Given the description of an element on the screen output the (x, y) to click on. 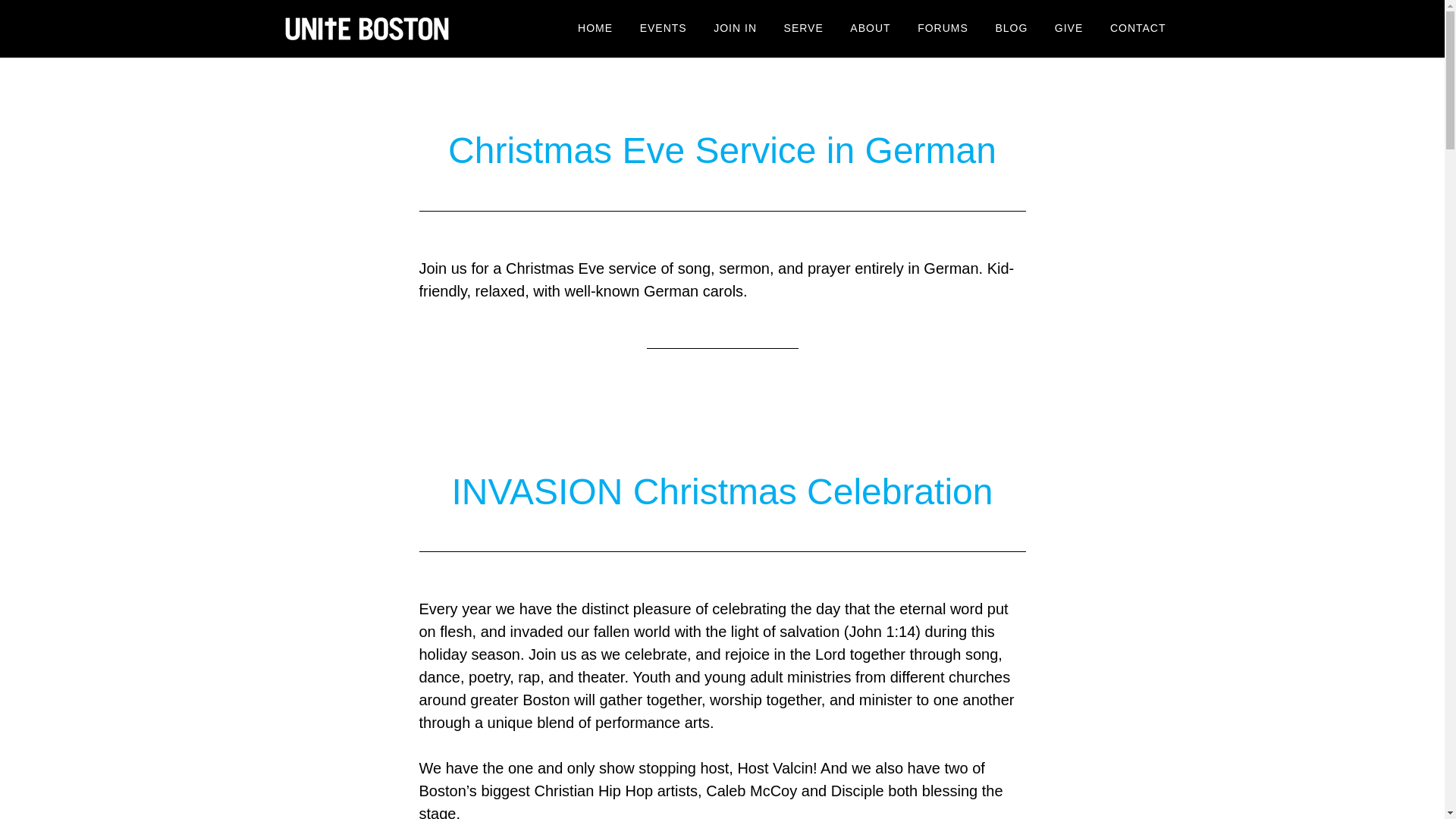
Christmas Eve Service in German (721, 150)
FORUMS (942, 28)
SERVE (803, 28)
BLOG (1011, 28)
ABOUT (869, 28)
GIVE (1068, 28)
UNITEBOSTON (403, 28)
EVENTS (663, 28)
CONTACT (1138, 28)
JOIN IN (734, 28)
INVASION Christmas Celebration (721, 491)
HOME (595, 28)
